Given the description of an element on the screen output the (x, y) to click on. 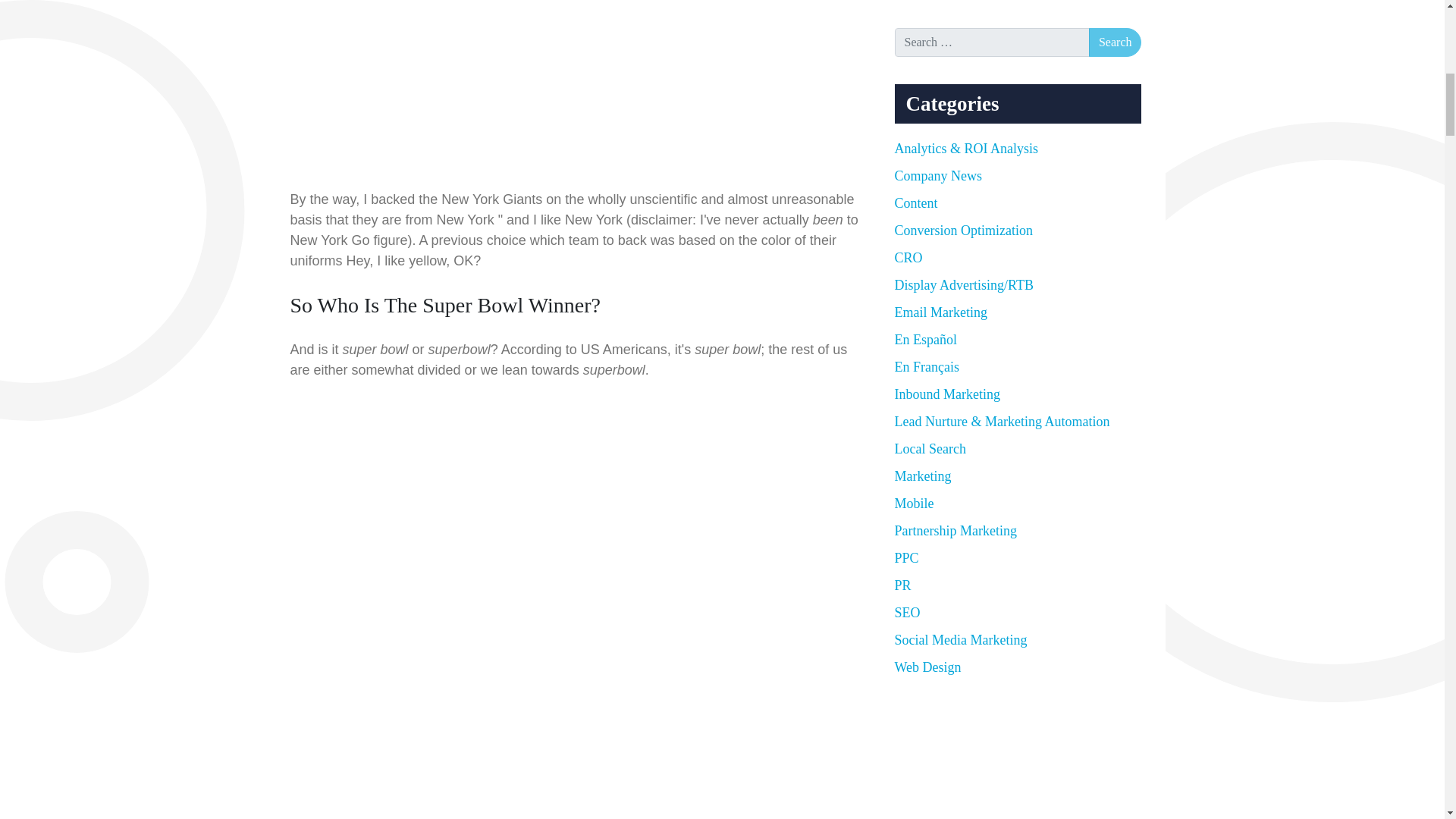
Search (1115, 41)
image (574, 72)
Search (1115, 41)
image (573, 469)
image (573, 688)
